Given the description of an element on the screen output the (x, y) to click on. 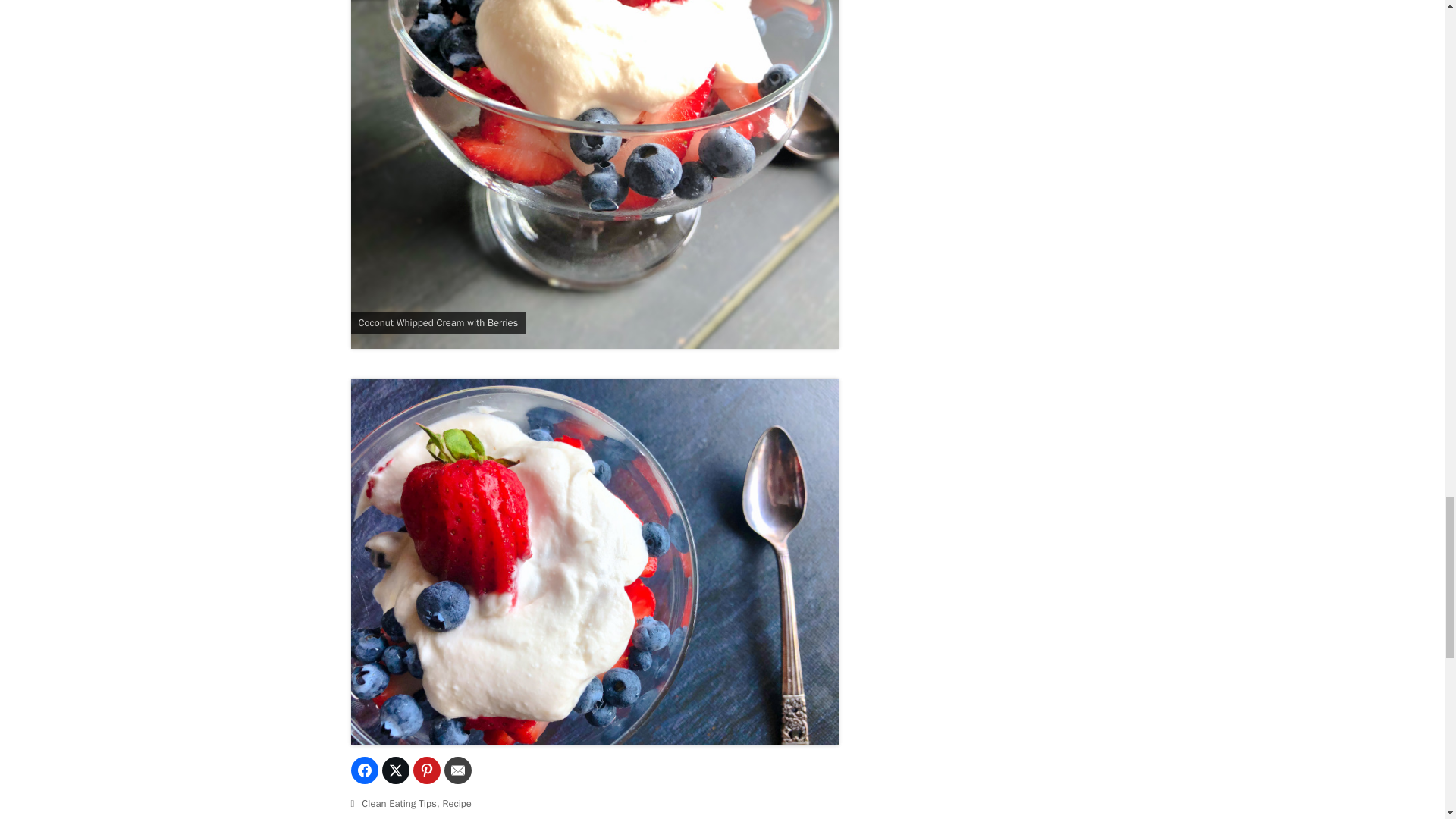
Share on Facebook (363, 769)
Share on Twitter (395, 769)
Share on Pinterest (425, 769)
